Given the description of an element on the screen output the (x, y) to click on. 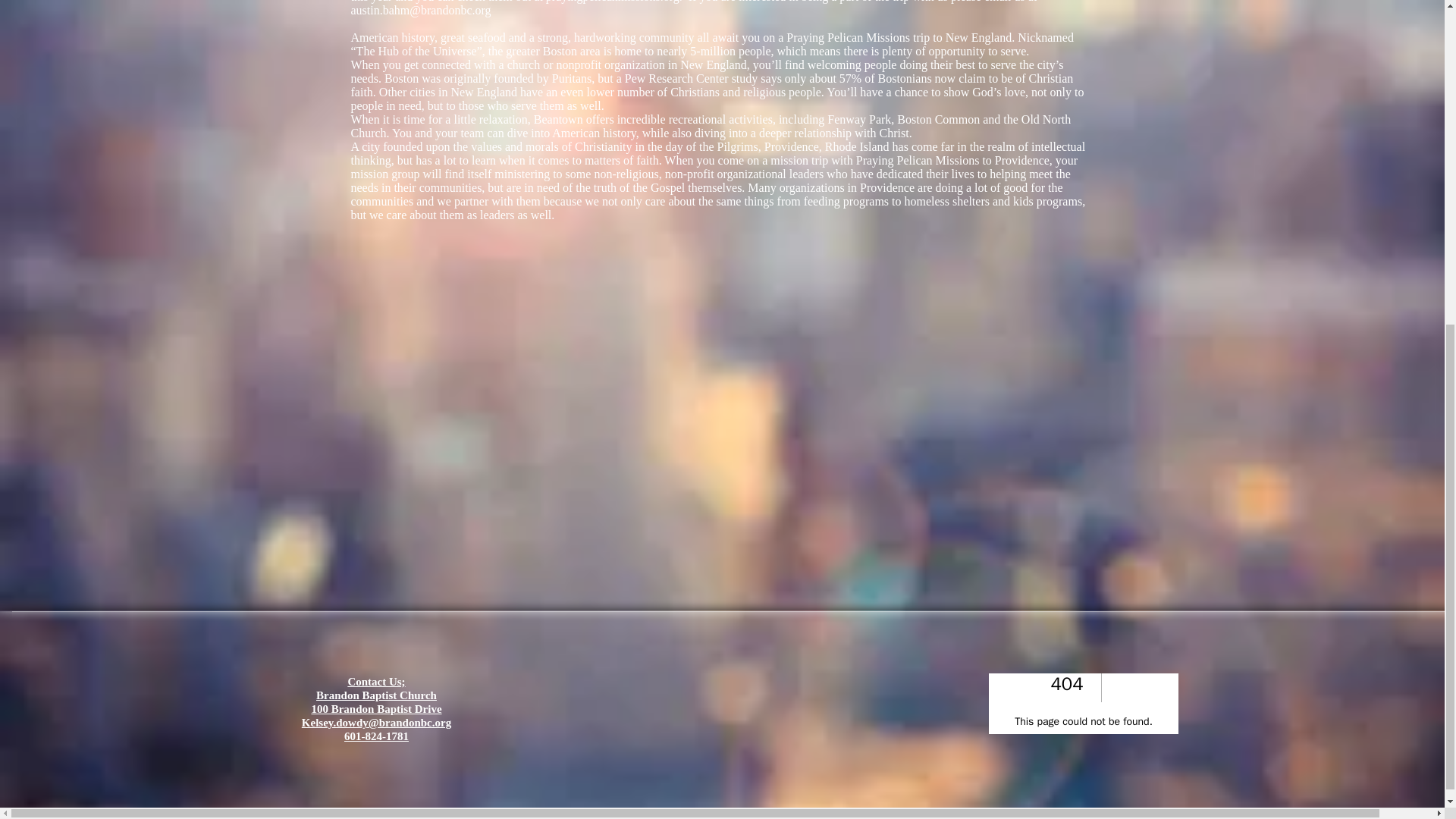
Spotify Player (1082, 703)
Contact Us; (375, 681)
Spotify Player (1082, 704)
